Given the description of an element on the screen output the (x, y) to click on. 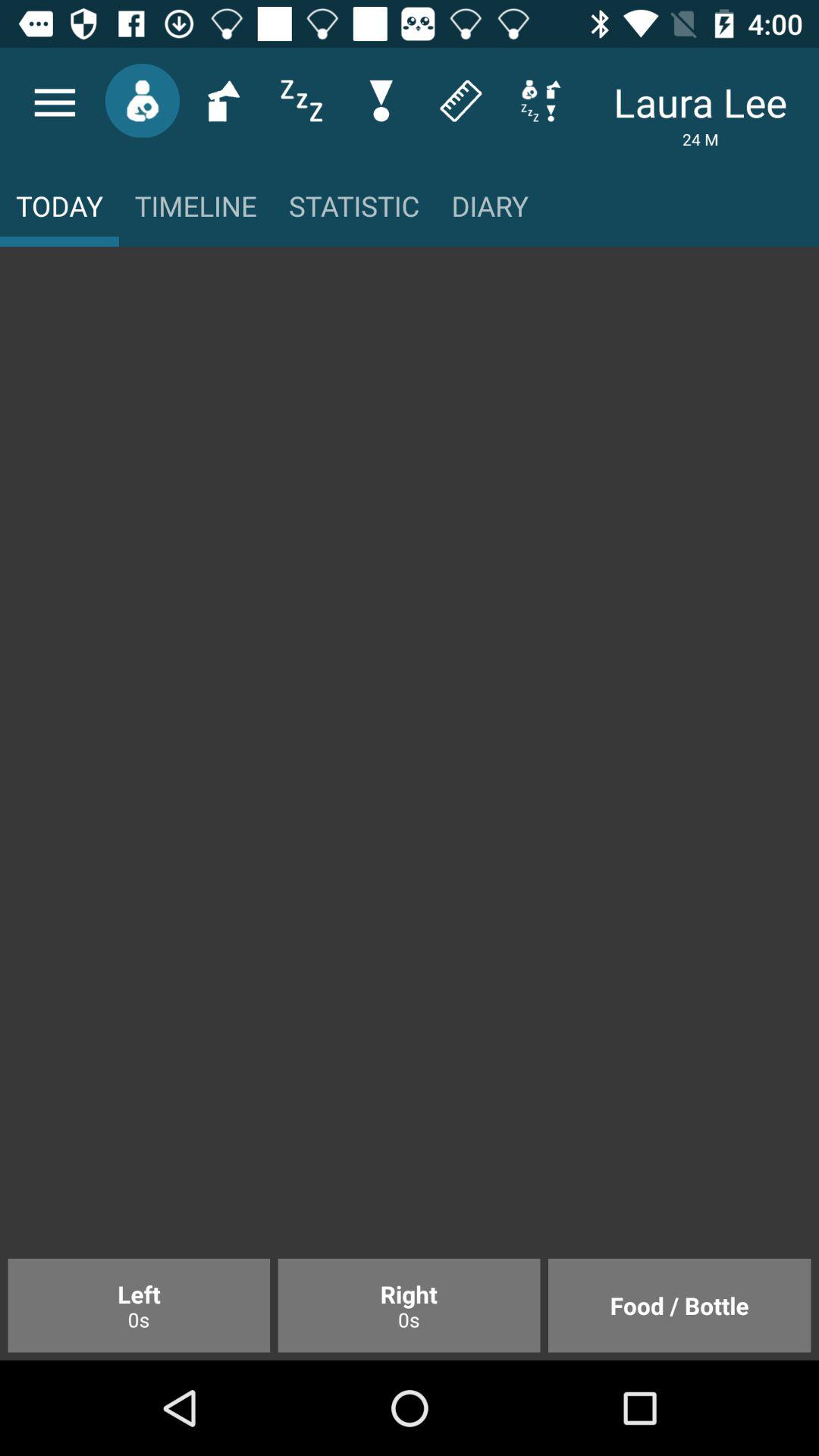
launch food / bottle (679, 1305)
